Given the description of an element on the screen output the (x, y) to click on. 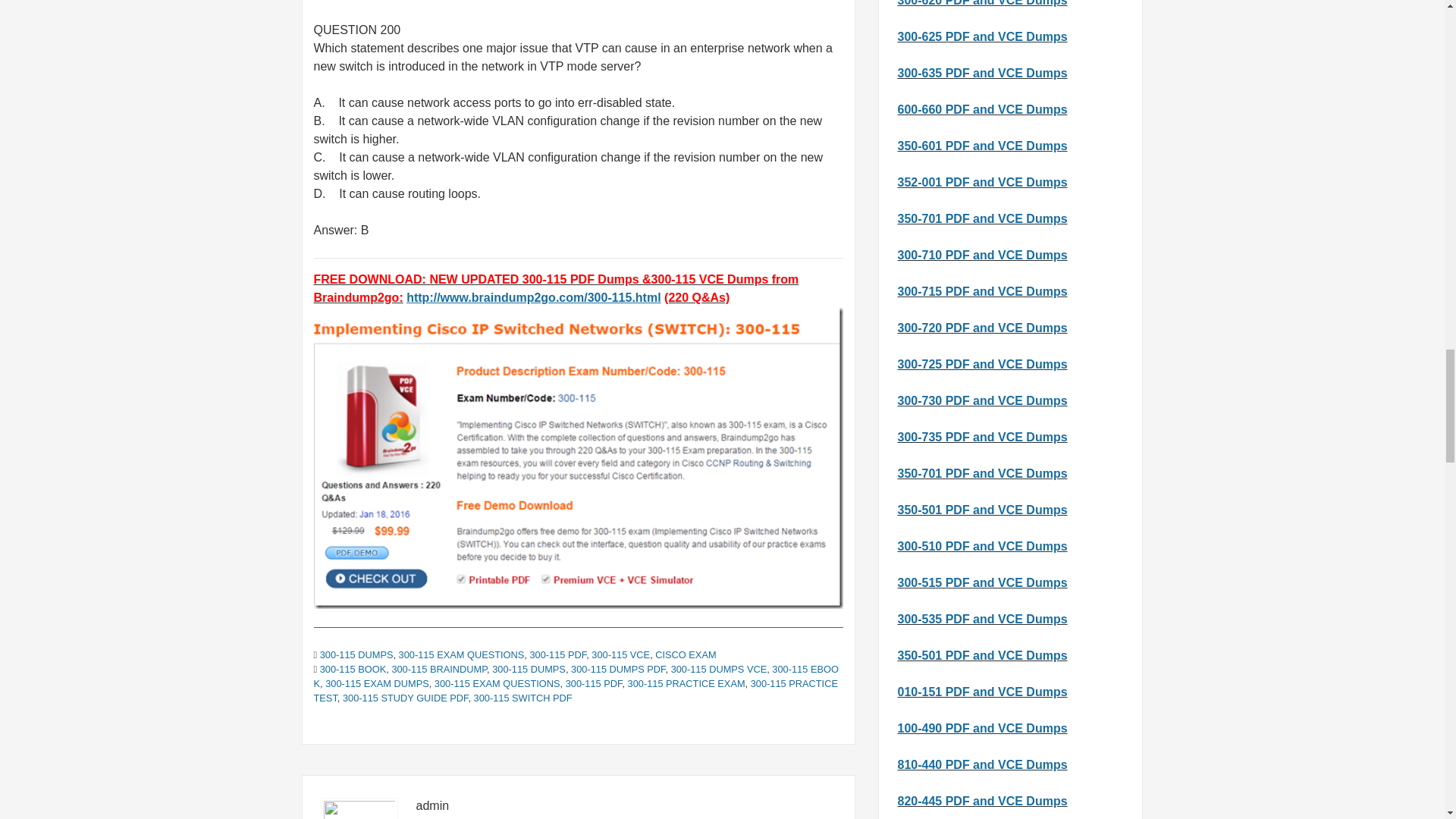
300-115 EXAM QUESTIONS (496, 683)
300-115 DUMPS (529, 668)
300-115 SWITCH PDF (523, 697)
300-115 PRACTICE EXAM (686, 683)
300-115 VCE (620, 654)
300-115 EXAM QUESTIONS (461, 654)
300-115 PRACTICE TEST (576, 690)
300-115 BOOK (353, 668)
300-115 DUMPS VCE (719, 668)
CISCO EXAM (685, 654)
300-115 BRAINDUMP (438, 668)
300-115 STUDY GUIDE PDF (404, 697)
300-115 EBOOK (576, 676)
300-115 DUMPS (356, 654)
300-115 PDF (594, 683)
